Given the description of an element on the screen output the (x, y) to click on. 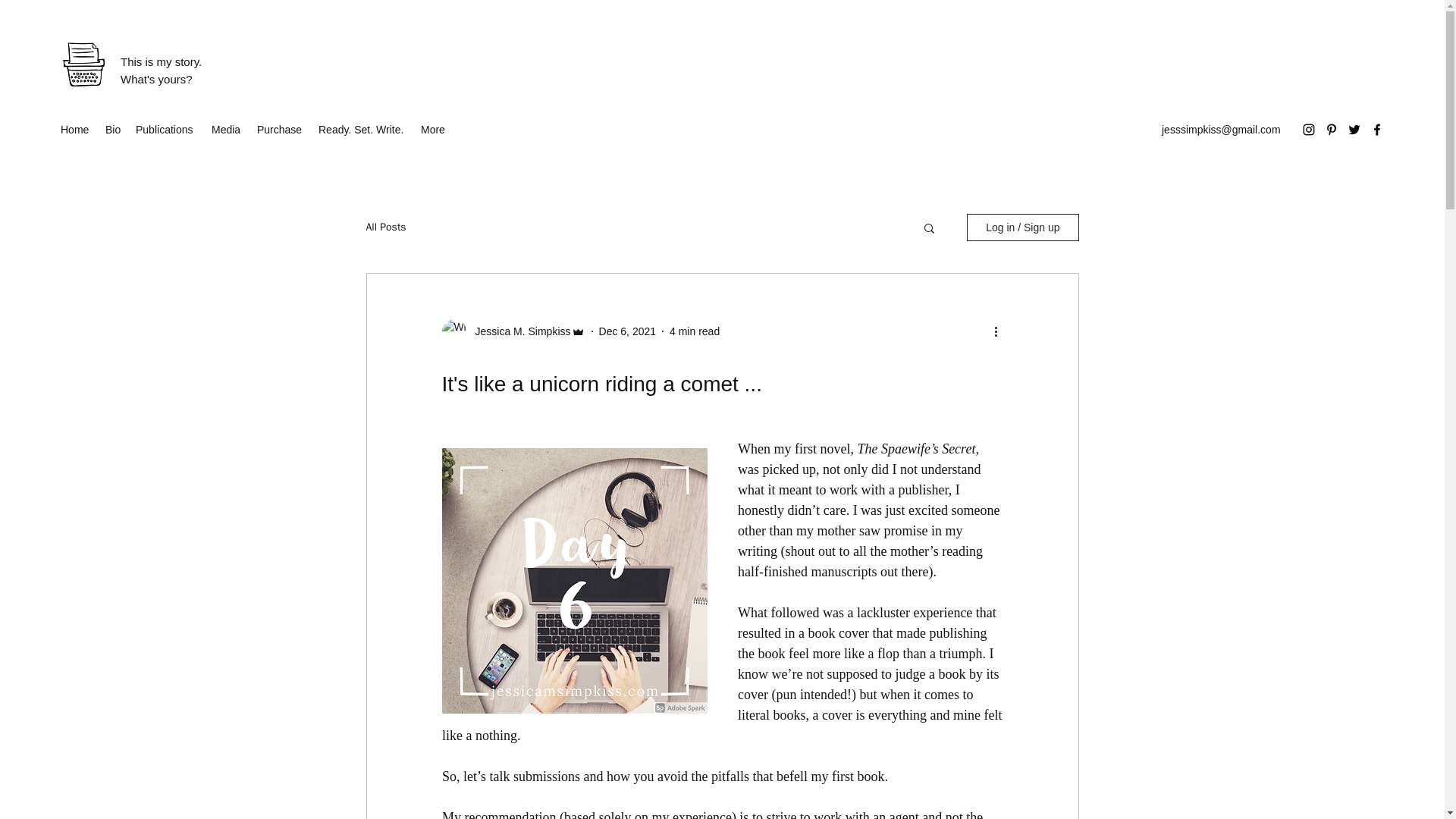
Publications (165, 128)
All Posts (385, 227)
Bio (112, 128)
Media (225, 128)
4 min read (694, 330)
Purchase (279, 128)
Ready. Set. Write. (362, 128)
Home (74, 128)
Dec 6, 2021 (627, 330)
Jessica M. Simpkiss (517, 330)
